Given the description of an element on the screen output the (x, y) to click on. 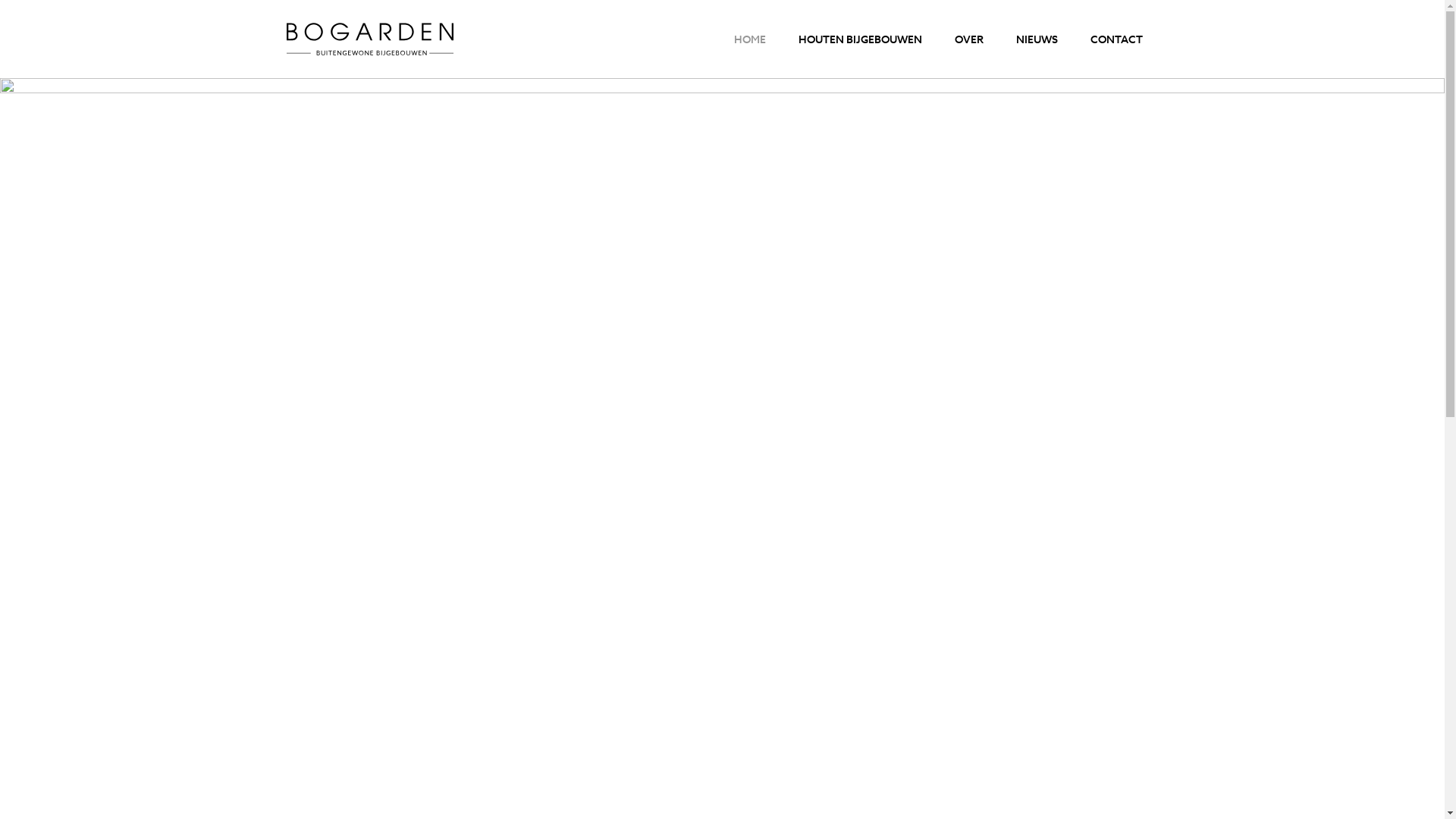
HOUTEN BIJGEBOUWEN Element type: text (860, 38)
Bogarden Element type: hover (423, 38)
CONTACT Element type: text (1116, 38)
OVER Element type: text (968, 38)
HOME Element type: text (749, 38)
NIEUWS Element type: text (1036, 38)
